Given the description of an element on the screen output the (x, y) to click on. 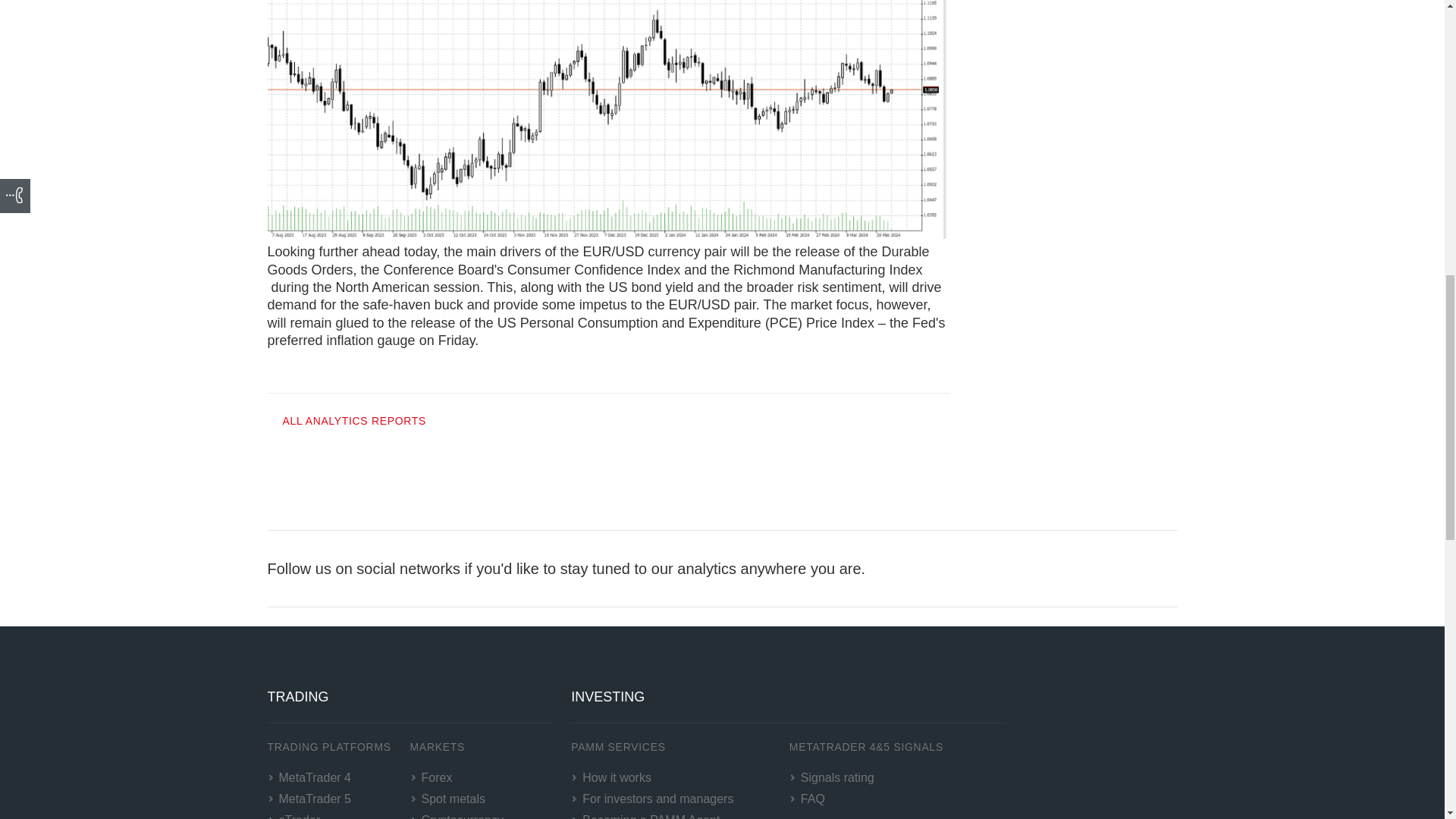
Telegram (1127, 568)
Linkedin (1093, 568)
Facebook (1026, 568)
Instagram (1060, 568)
Youtube (1161, 568)
